Given the description of an element on the screen output the (x, y) to click on. 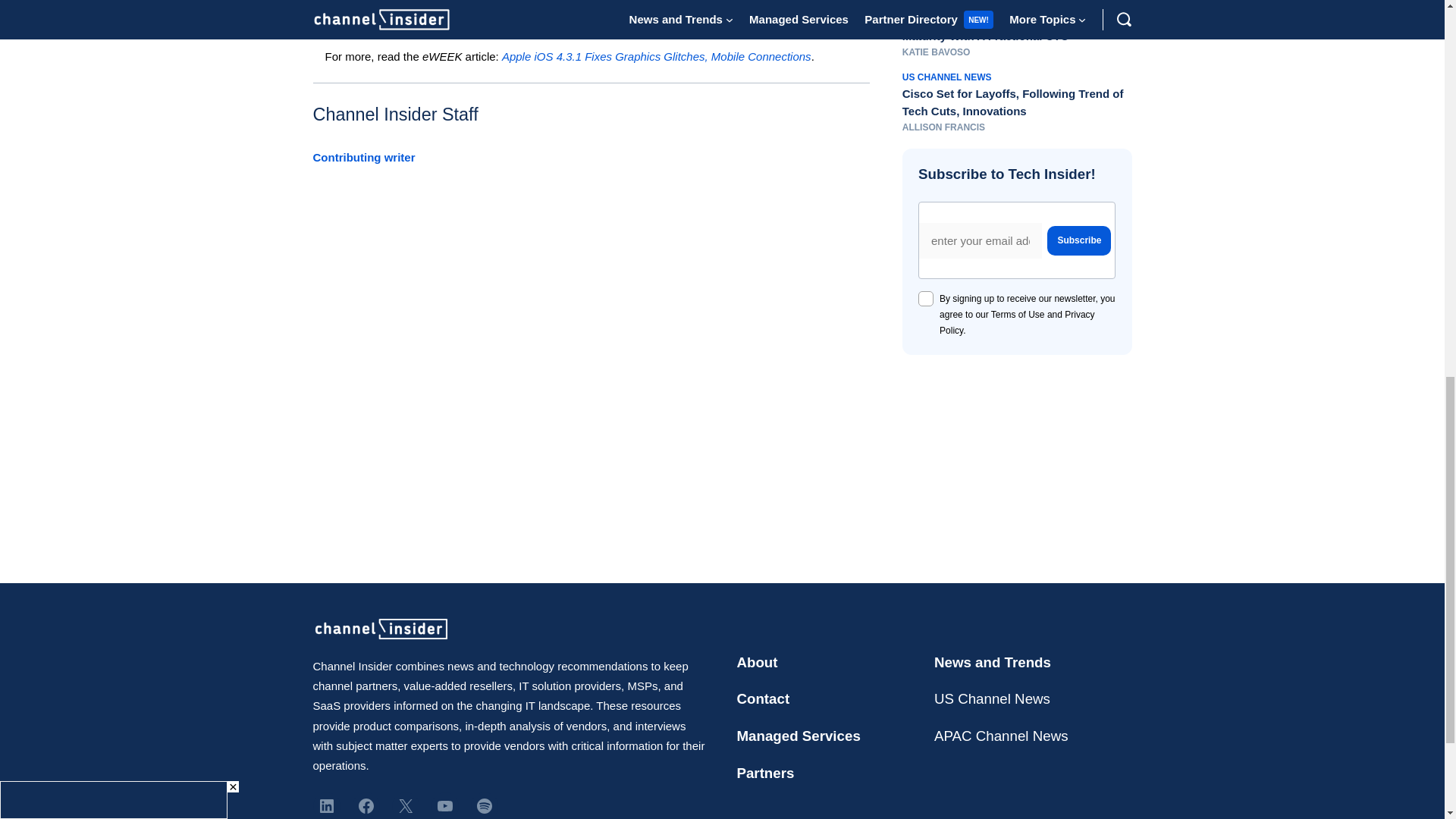
Channel Insider Staff (395, 114)
Apple iOS 4.3.1 Fixes Graphics Glitches, Mobile Connections (656, 56)
on (925, 298)
